Given the description of an element on the screen output the (x, y) to click on. 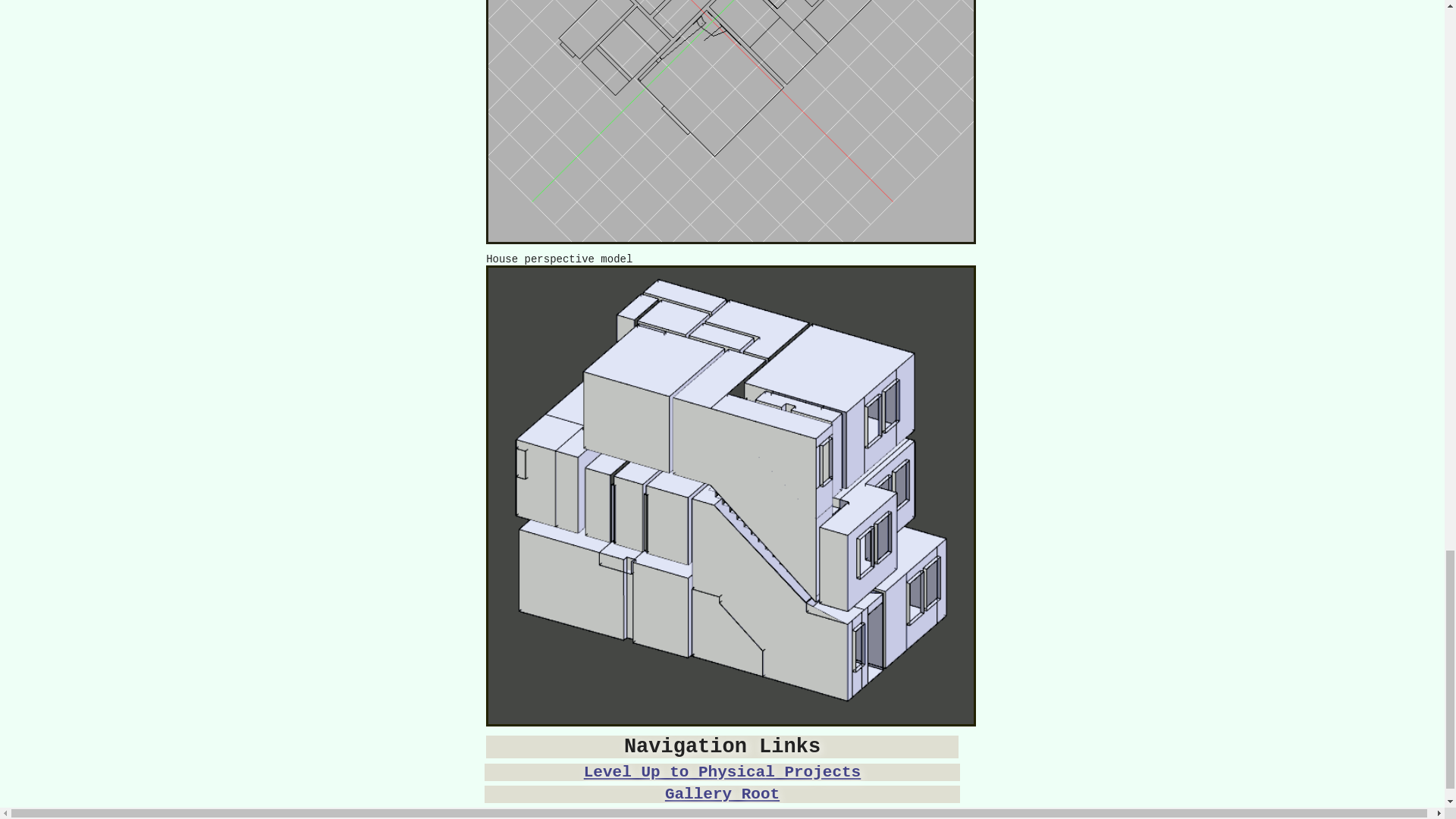
Floorplan, lvl 3 (730, 122)
Gallery Root (721, 794)
Level Up to Physical Projects (721, 772)
